Given the description of an element on the screen output the (x, y) to click on. 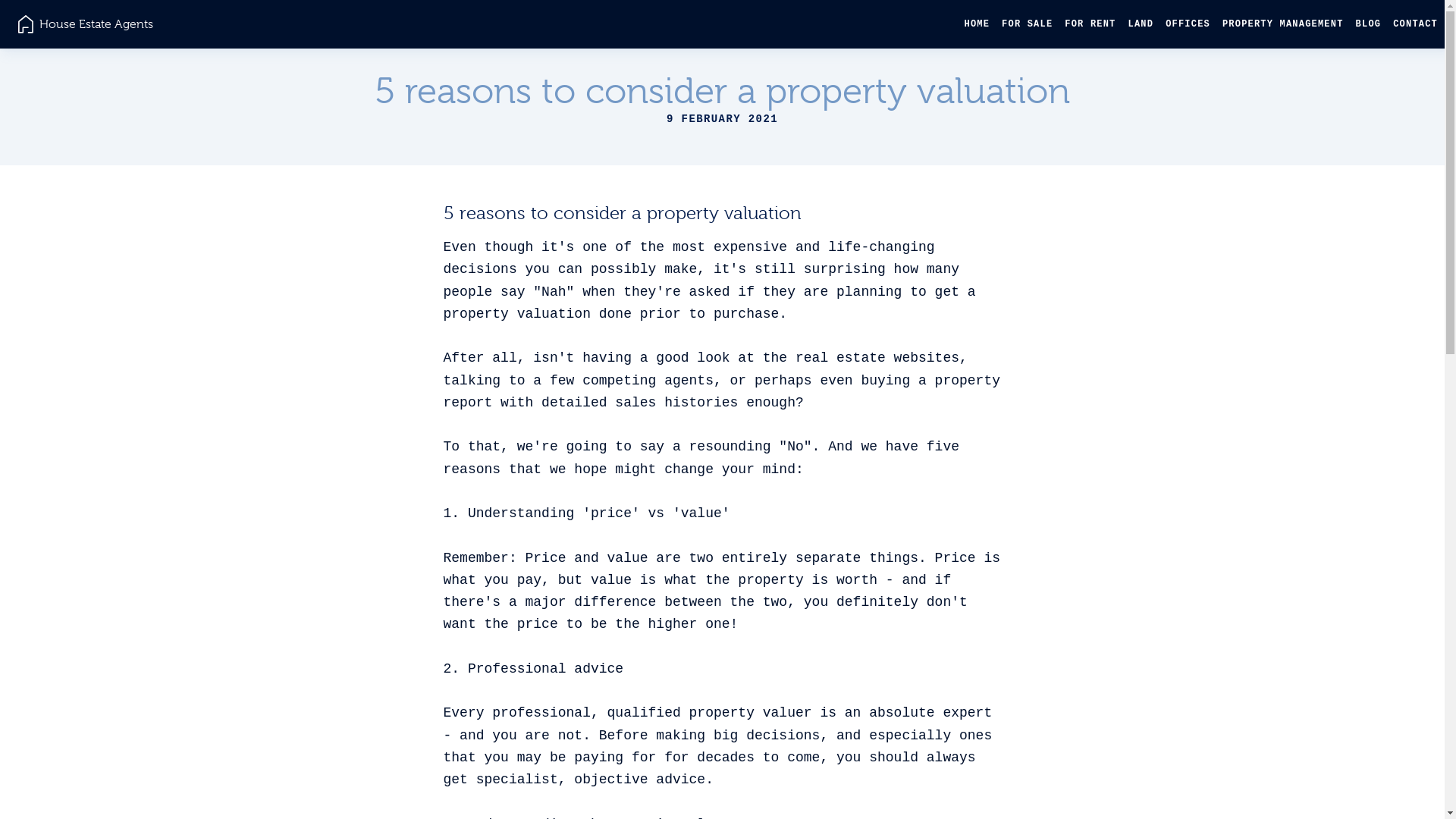
FOR RENT Element type: text (1089, 23)
OFFICES Element type: text (1187, 23)
FOR SALE Element type: text (1026, 23)
House Estate Agents Element type: text (85, 24)
BLOG Element type: text (1368, 23)
LAND Element type: text (1141, 23)
CONTACT Element type: text (1415, 23)
HOME Element type: text (976, 23)
PROPERTY MANAGEMENT Element type: text (1282, 23)
